Given the description of an element on the screen output the (x, y) to click on. 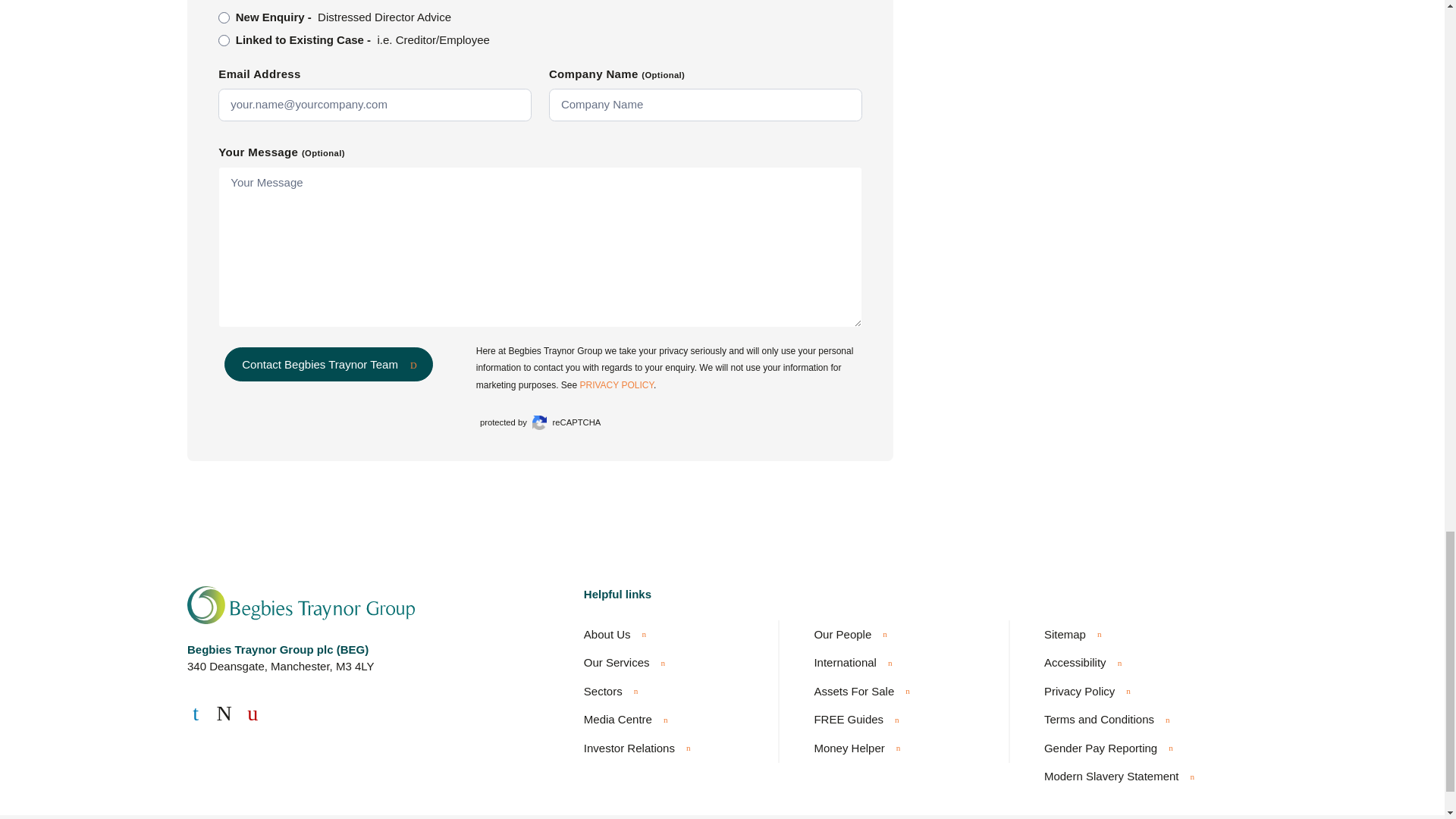
New Enquiry - Distressed Director Advice (224, 17)
